Given the description of an element on the screen output the (x, y) to click on. 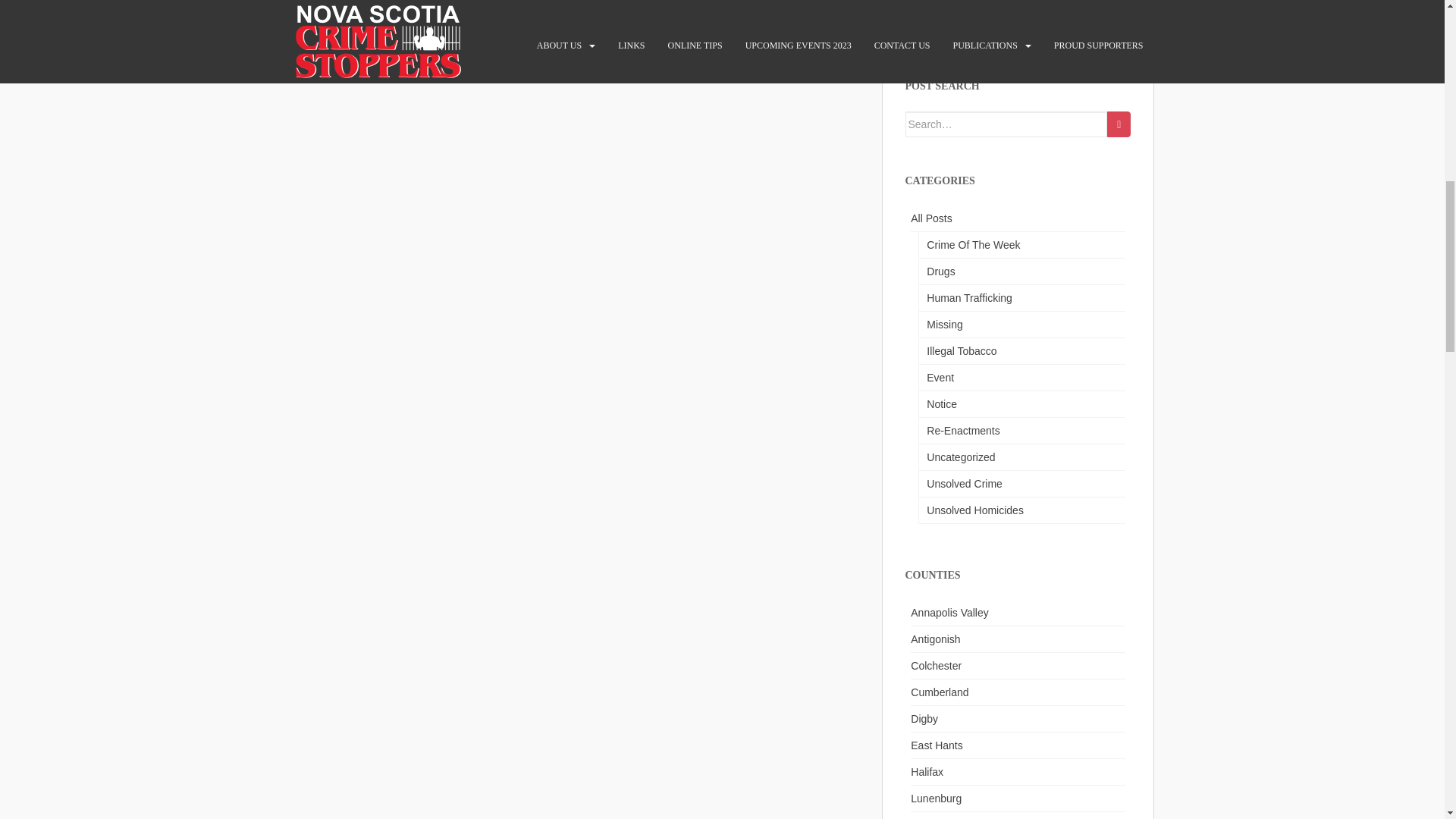
Crime Of The Week (1021, 244)
All Posts (1017, 218)
Missing (1021, 325)
Search (1118, 124)
Illegal Tobacco (1021, 351)
Search for: (1006, 124)
Event (1021, 377)
Drugs (1021, 271)
Printable Donation Form (962, 24)
Human Trafficking (1021, 298)
